Given the description of an element on the screen output the (x, y) to click on. 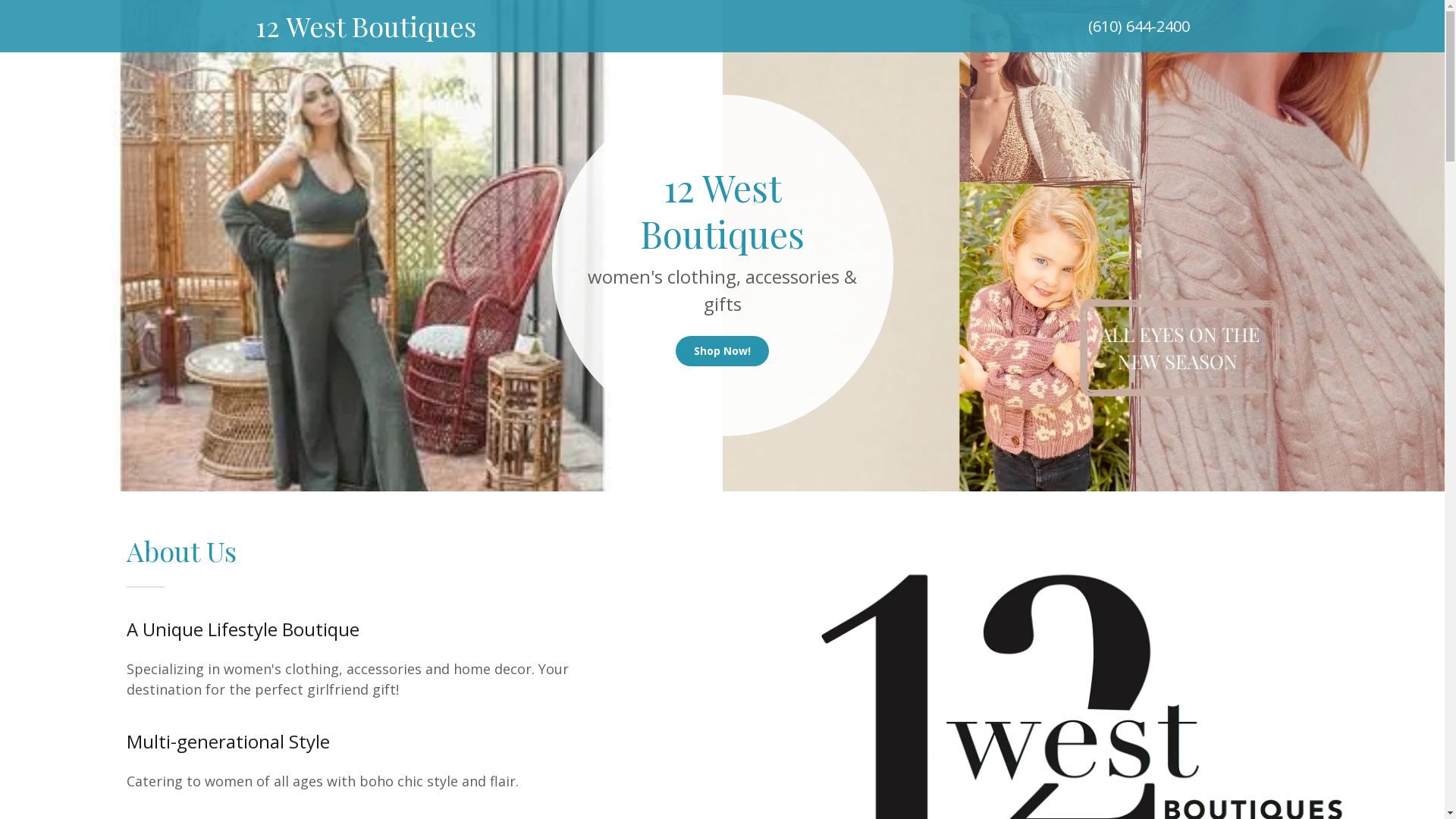
(610) 644-2400 Element type: text (1138, 25)
12 West Boutiques Element type: text (591, 31)
Shop Now! Element type: text (721, 350)
